Given the description of an element on the screen output the (x, y) to click on. 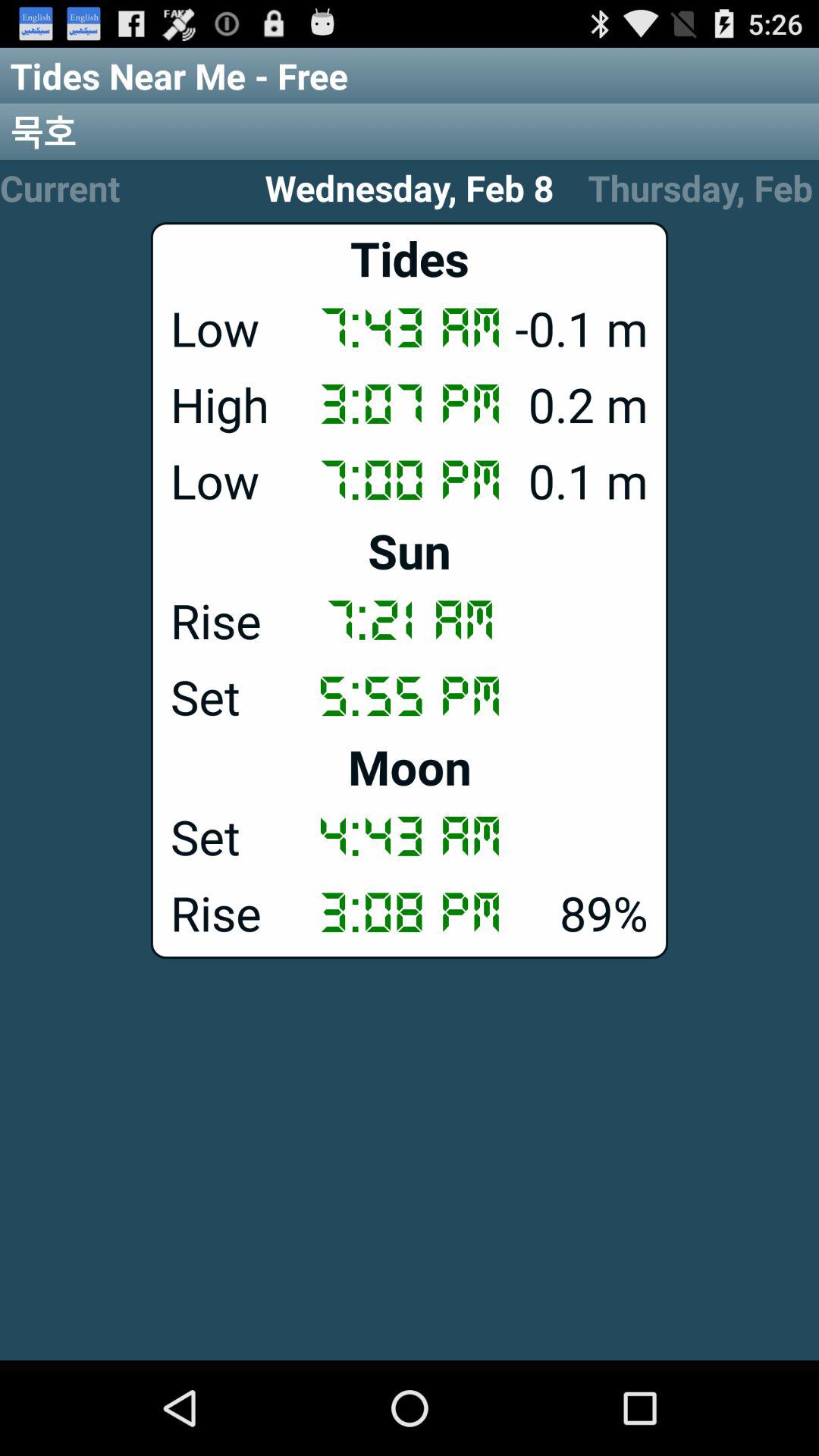
open the app below the low item (409, 550)
